Given the description of an element on the screen output the (x, y) to click on. 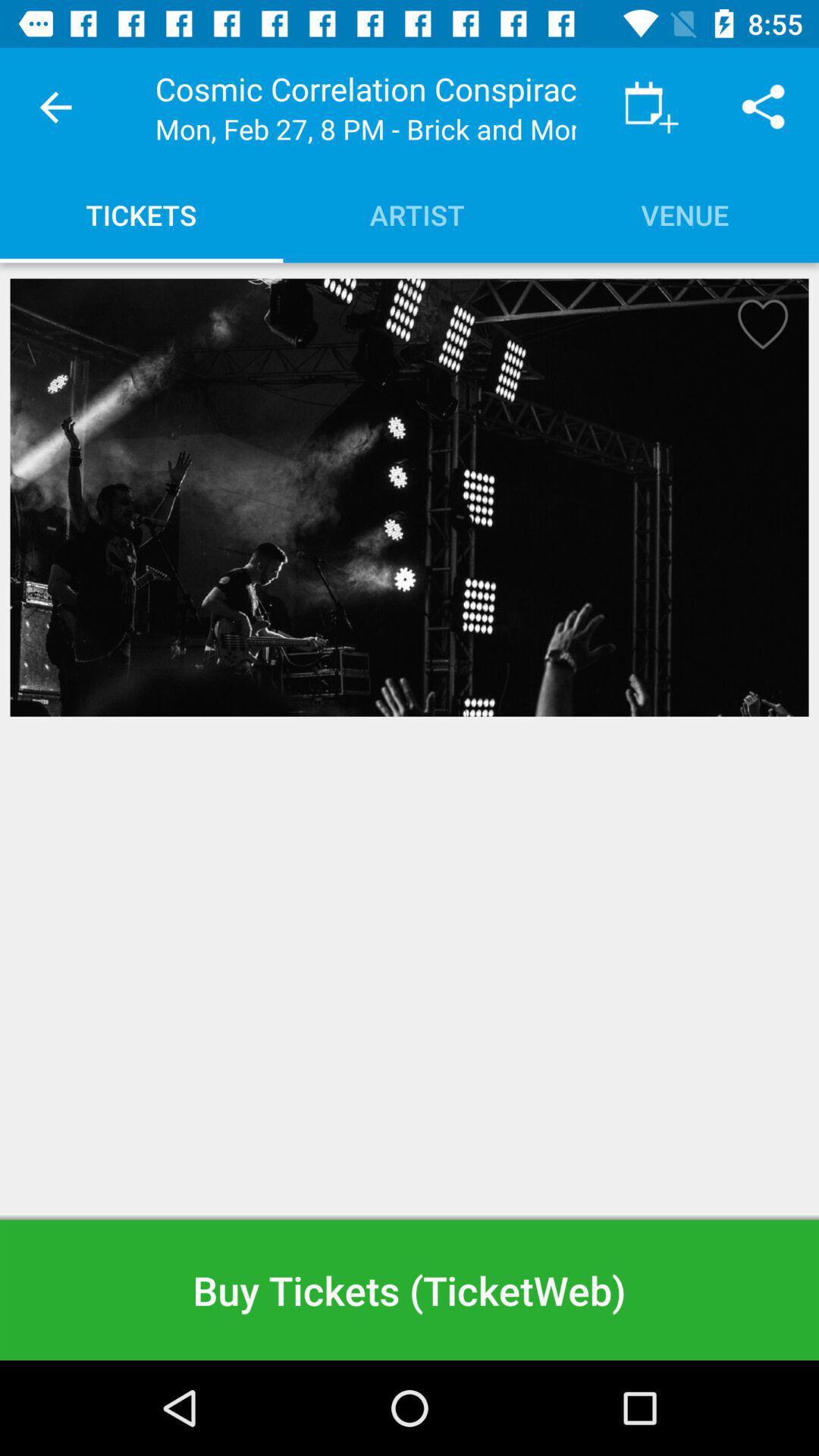
like this event (757, 329)
